Given the description of an element on the screen output the (x, y) to click on. 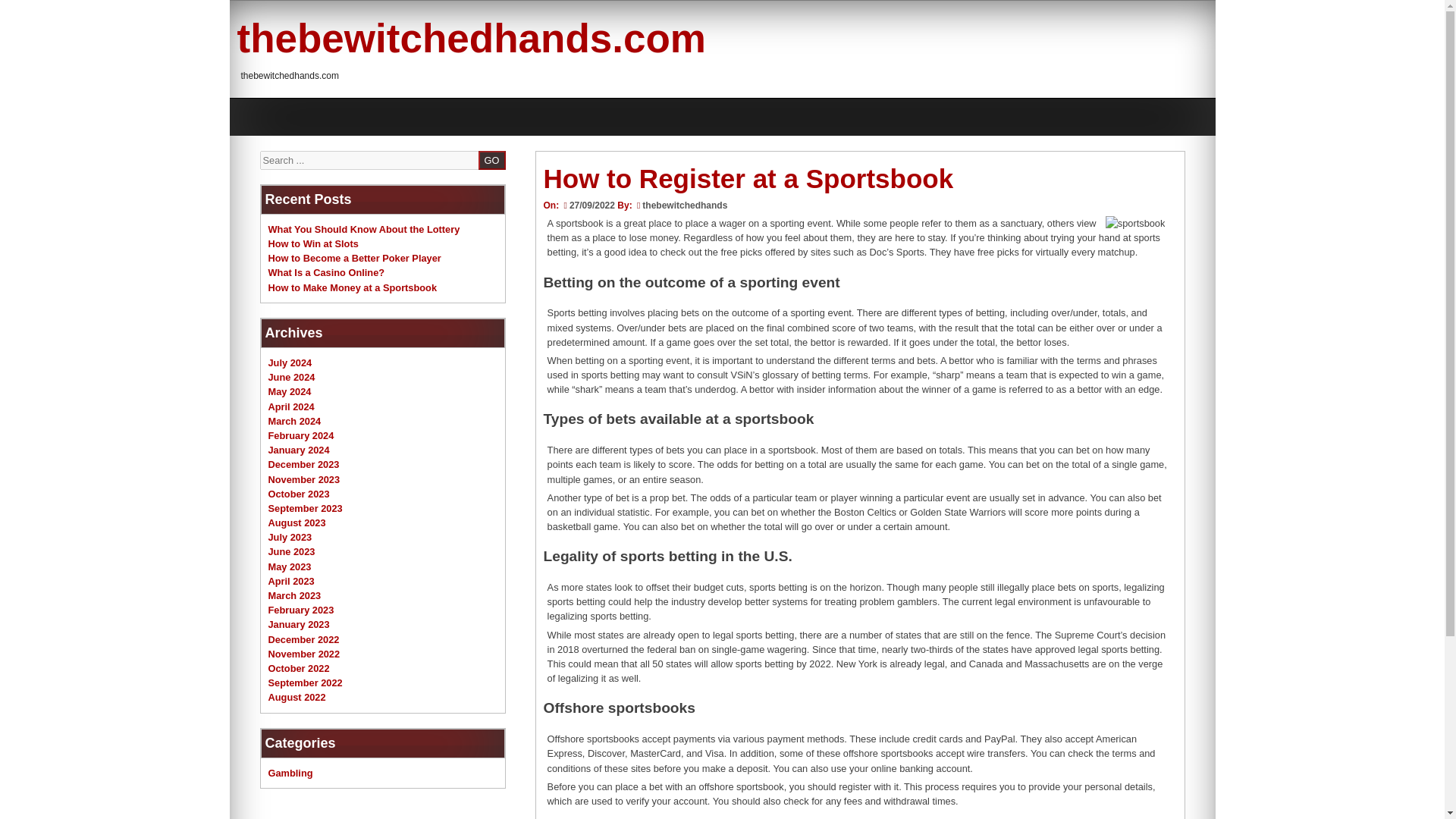
What You Should Know About the Lottery (363, 229)
October 2022 (298, 668)
December 2023 (303, 464)
February 2023 (300, 609)
How to Make Money at a Sportsbook (352, 287)
January 2023 (298, 624)
How to Win at Slots (312, 243)
July 2023 (290, 536)
August 2022 (296, 696)
February 2024 (300, 435)
thebewitchedhands.com (469, 37)
March 2023 (294, 595)
What Is a Casino Online? (326, 272)
December 2022 (303, 639)
May 2024 (289, 391)
